Given the description of an element on the screen output the (x, y) to click on. 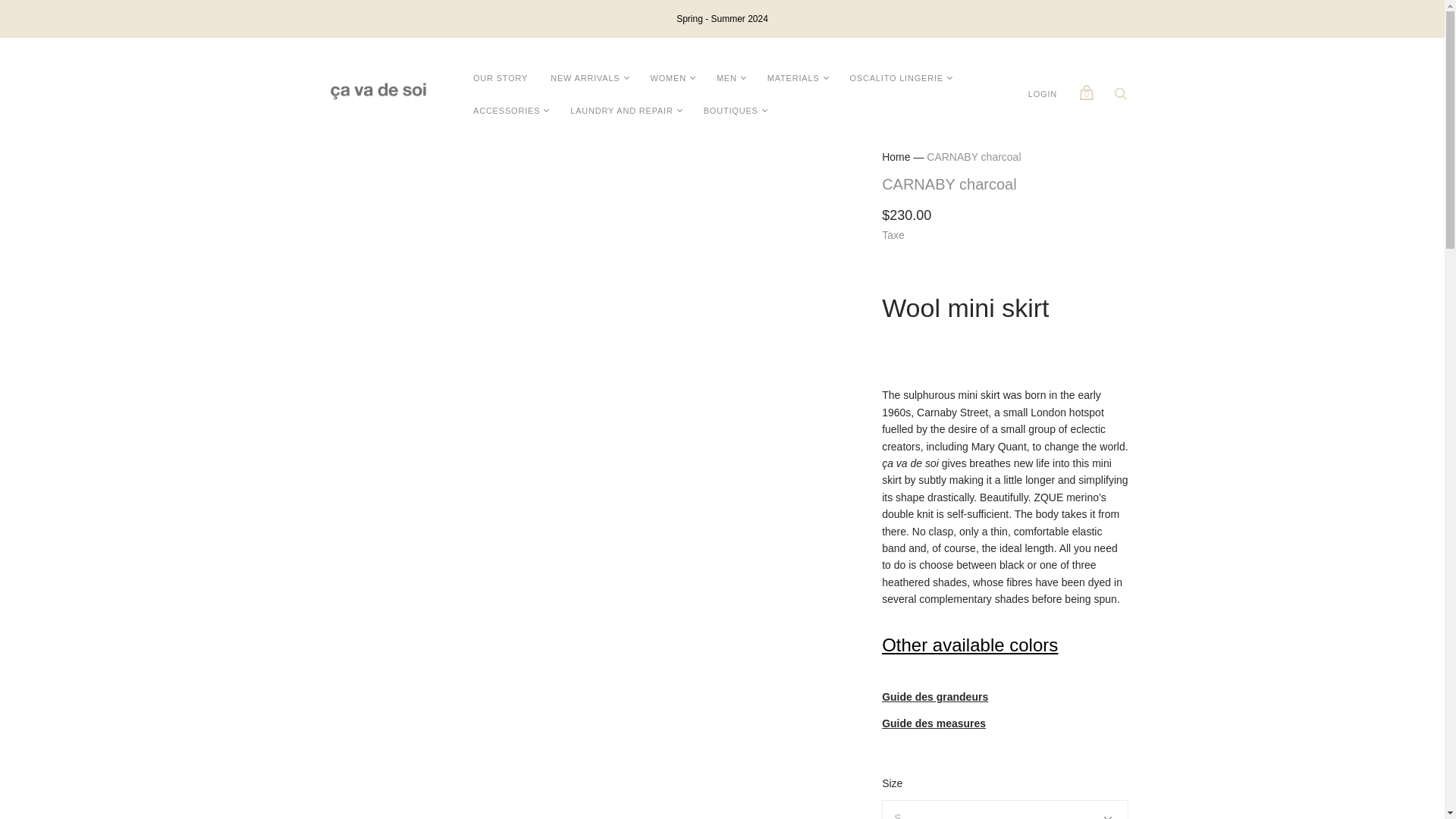
MEN (726, 78)
NEW ARRIVALS (584, 78)
OUR STORY (499, 78)
Home (896, 156)
WOMEN (668, 78)
